Given the description of an element on the screen output the (x, y) to click on. 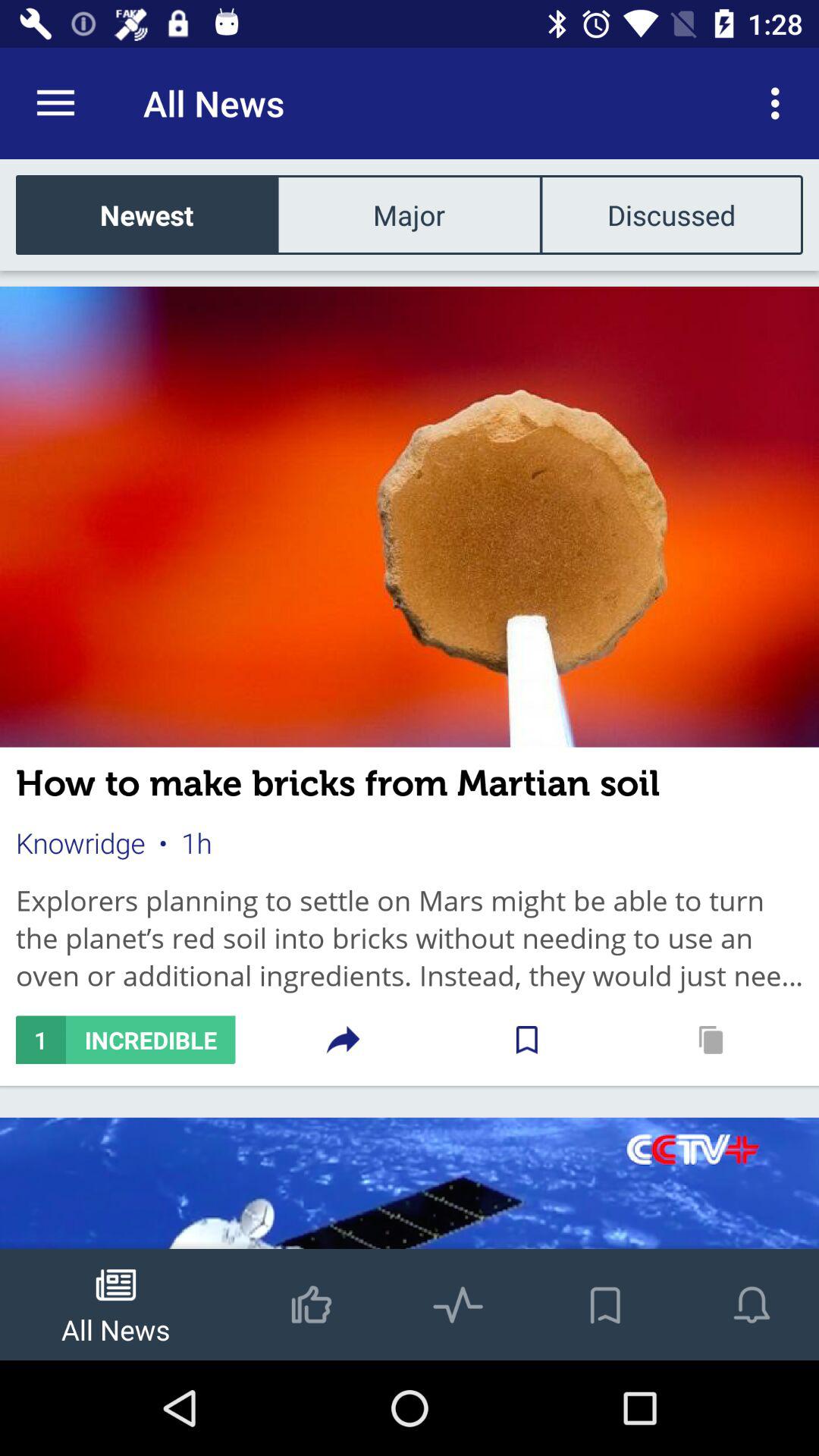
open the icon next to the all news icon (779, 103)
